Given the description of an element on the screen output the (x, y) to click on. 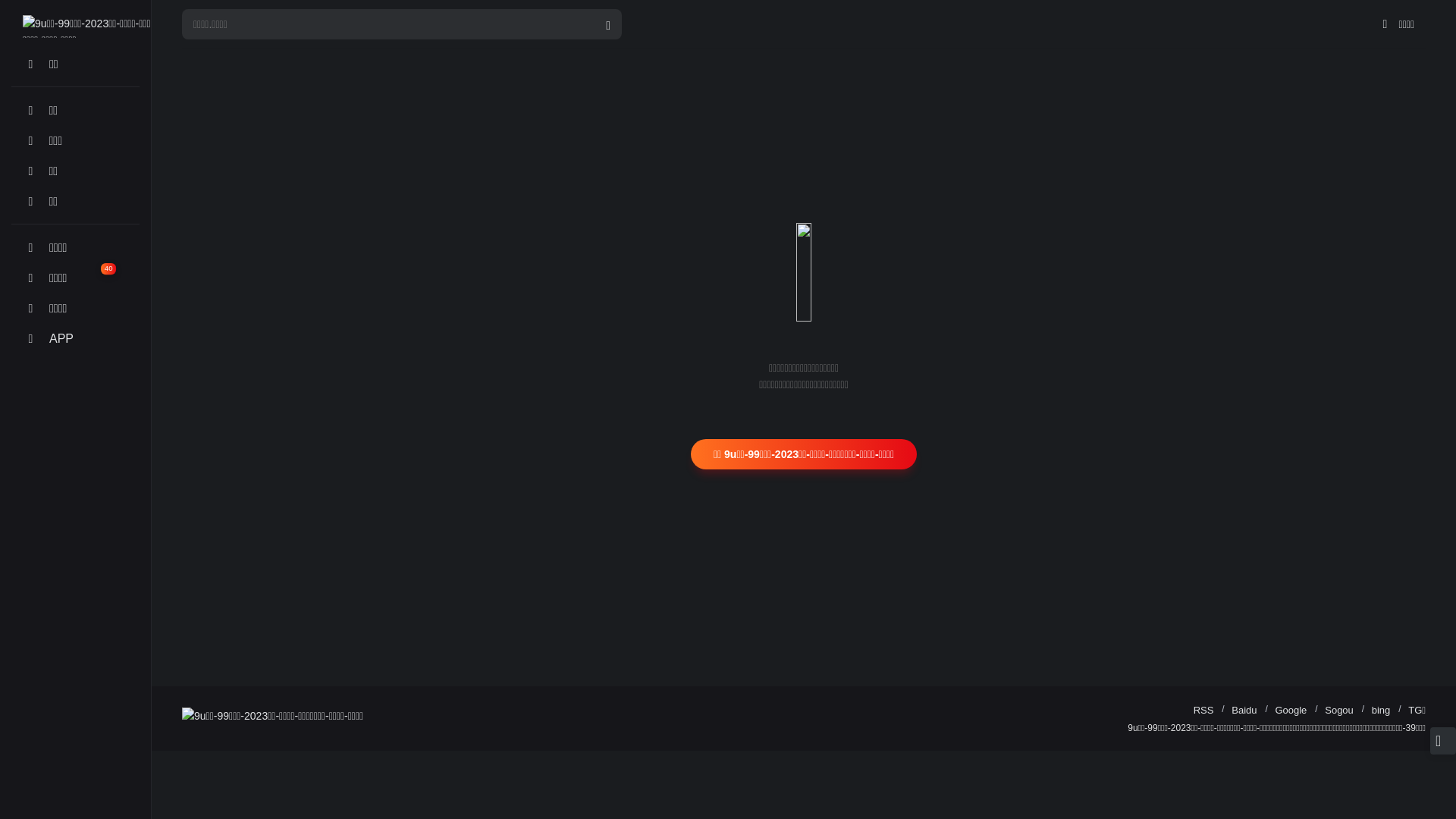
Sogou Element type: text (1338, 709)
RSS Element type: text (1203, 709)
bing Element type: text (1380, 709)
Baidu Element type: text (1243, 709)
Google Element type: text (1290, 709)
APP Element type: text (75, 337)
